Given the description of an element on the screen output the (x, y) to click on. 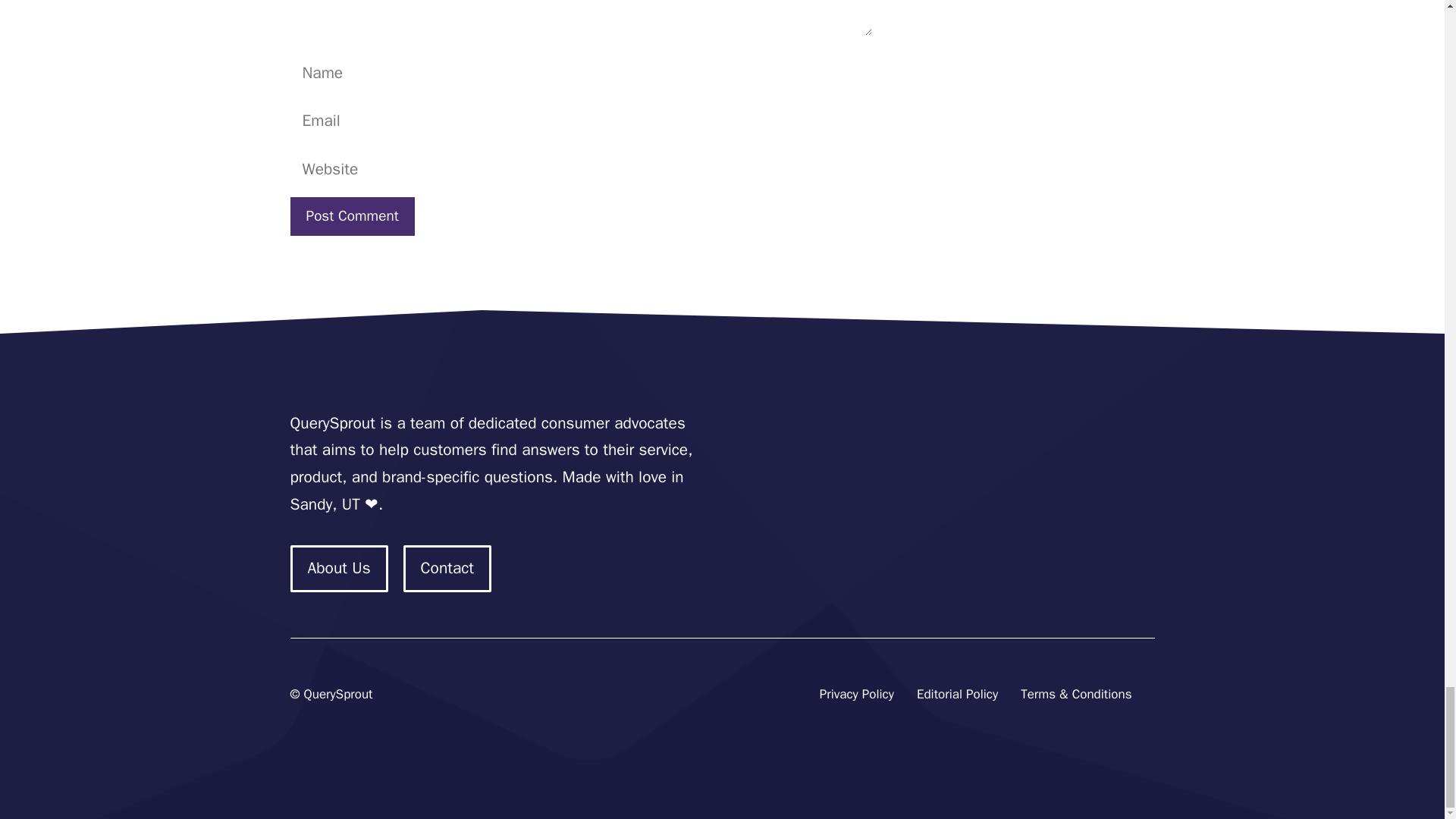
Post Comment (351, 216)
Editorial Policy (957, 694)
Privacy Policy (856, 694)
About Us (338, 568)
Post Comment (351, 216)
Contact (447, 568)
